Given the description of an element on the screen output the (x, y) to click on. 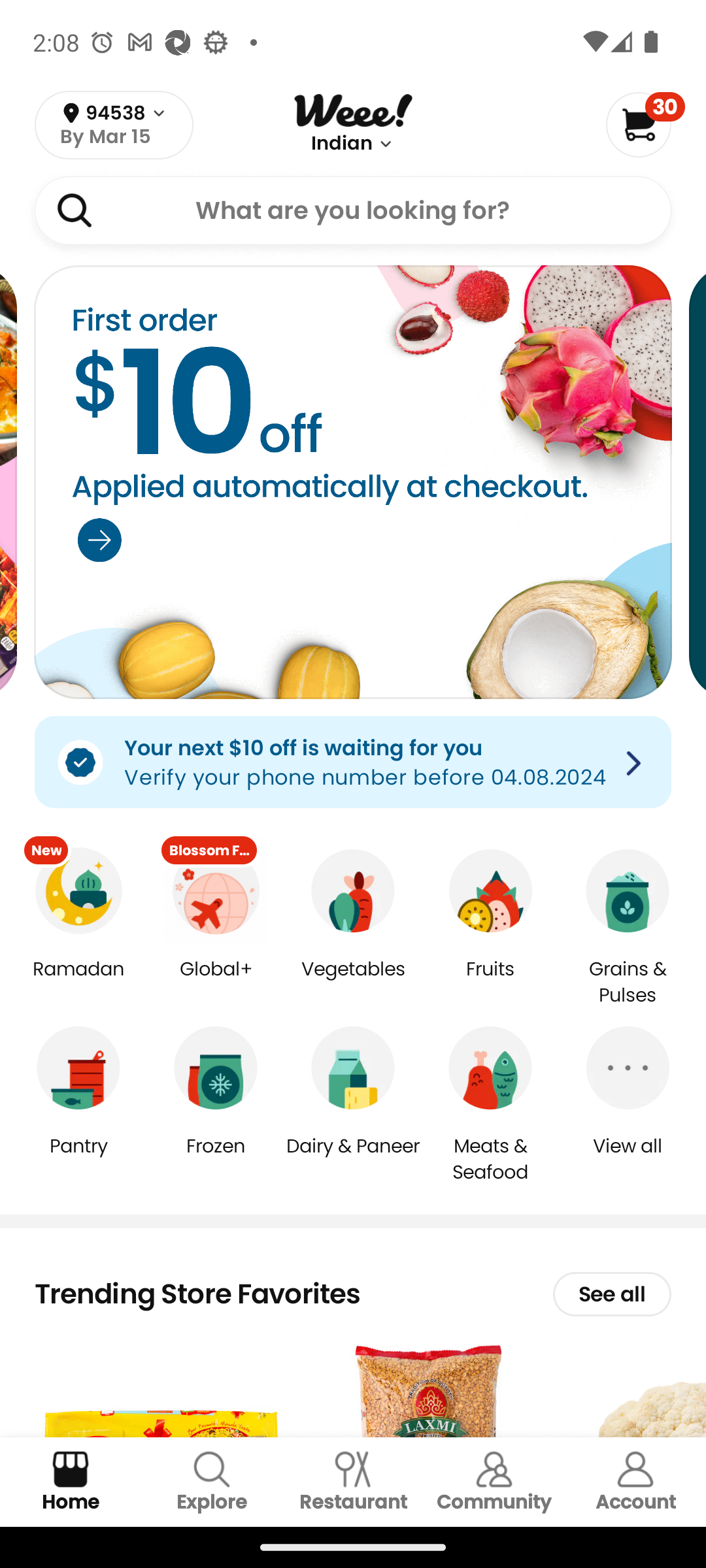
94538 By Mar 15 (113, 124)
30 (644, 124)
Indian (341, 143)
What are you looking for? (352, 209)
Ramadan (77, 982)
Global+ (215, 982)
Vegetables (352, 982)
Fruits (490, 982)
Grains & Pulses (627, 982)
Pantry (77, 1159)
Frozen (215, 1159)
Dairy & Paneer (352, 1159)
Meats & Seafood (490, 1158)
View all (627, 1159)
Home (70, 1482)
Explore (211, 1482)
Restaurant (352, 1482)
Community (493, 1482)
Account (635, 1482)
